Given the description of an element on the screen output the (x, y) to click on. 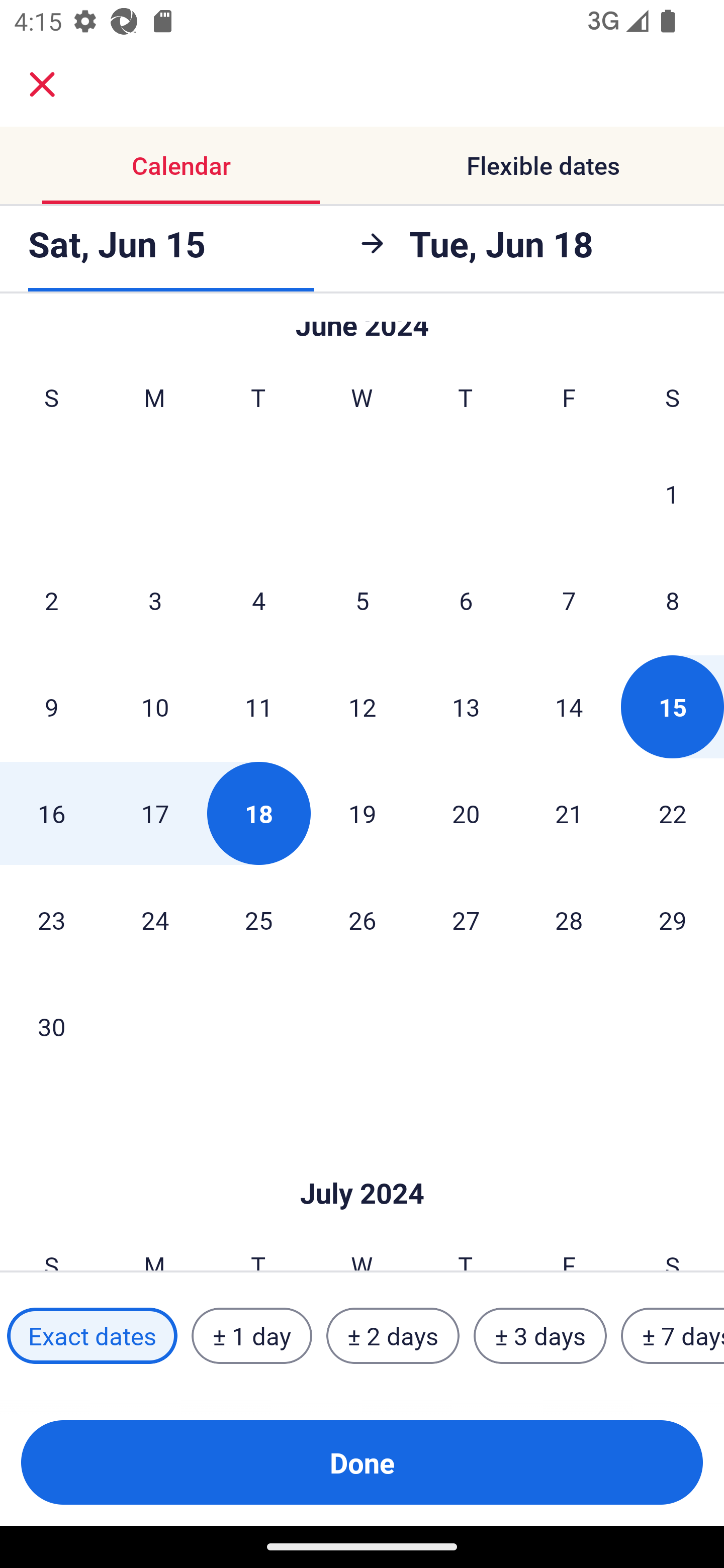
close. (42, 84)
Flexible dates (542, 164)
1 Saturday, June 1, 2024 (672, 493)
2 Sunday, June 2, 2024 (51, 600)
3 Monday, June 3, 2024 (155, 600)
4 Tuesday, June 4, 2024 (258, 600)
5 Wednesday, June 5, 2024 (362, 600)
6 Thursday, June 6, 2024 (465, 600)
7 Friday, June 7, 2024 (569, 600)
8 Saturday, June 8, 2024 (672, 600)
9 Sunday, June 9, 2024 (51, 706)
10 Monday, June 10, 2024 (155, 706)
11 Tuesday, June 11, 2024 (258, 706)
12 Wednesday, June 12, 2024 (362, 706)
13 Thursday, June 13, 2024 (465, 706)
14 Friday, June 14, 2024 (569, 706)
19 Wednesday, June 19, 2024 (362, 813)
20 Thursday, June 20, 2024 (465, 813)
21 Friday, June 21, 2024 (569, 813)
22 Saturday, June 22, 2024 (672, 813)
23 Sunday, June 23, 2024 (51, 920)
24 Monday, June 24, 2024 (155, 920)
25 Tuesday, June 25, 2024 (258, 920)
26 Wednesday, June 26, 2024 (362, 920)
27 Thursday, June 27, 2024 (465, 920)
28 Friday, June 28, 2024 (569, 920)
29 Saturday, June 29, 2024 (672, 920)
30 Sunday, June 30, 2024 (51, 1026)
Skip to Done (362, 1163)
Exact dates (92, 1335)
± 1 day (251, 1335)
± 2 days (392, 1335)
± 3 days (539, 1335)
± 7 days (672, 1335)
Done (361, 1462)
